Given the description of an element on the screen output the (x, y) to click on. 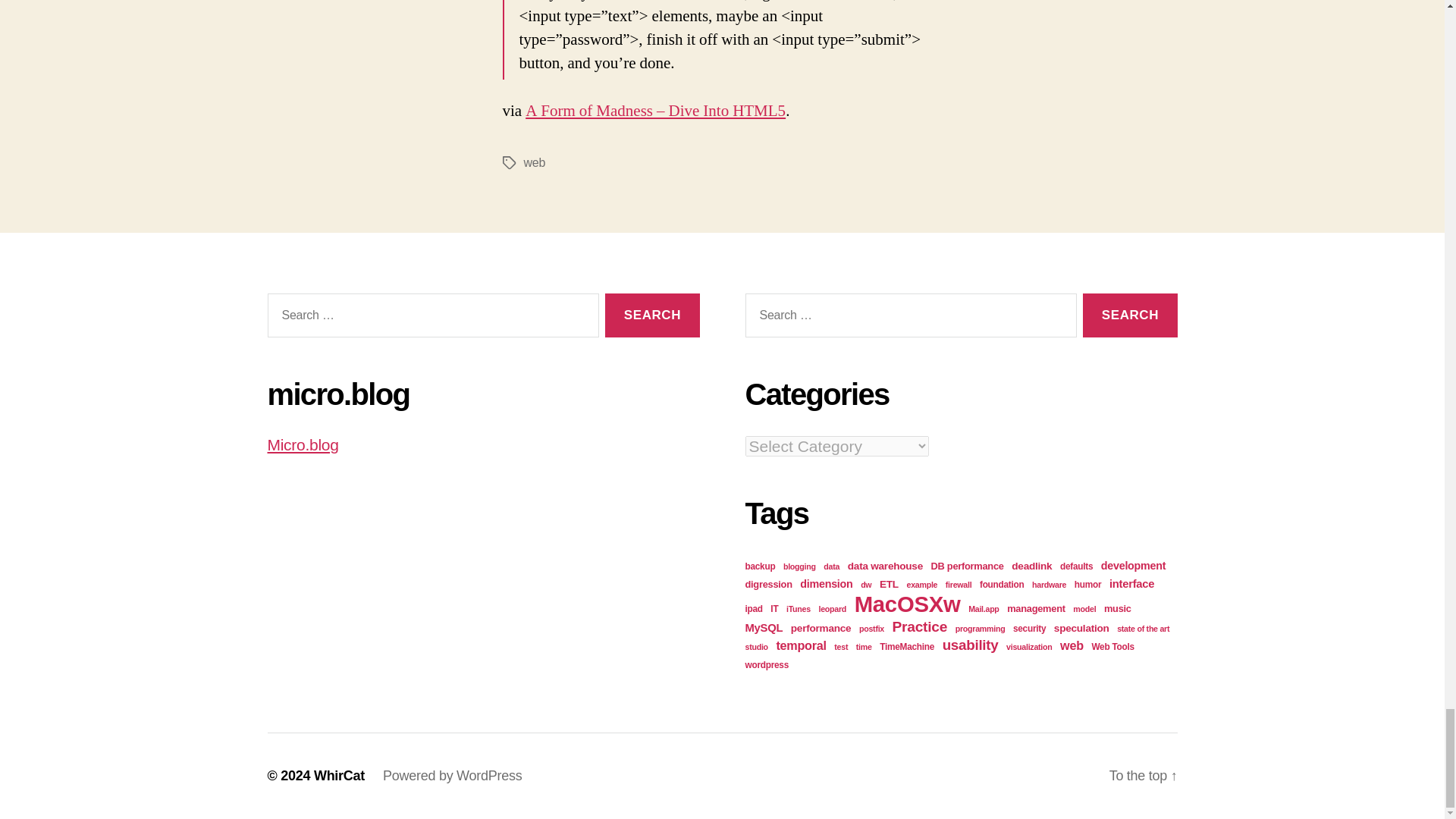
Search (1129, 315)
Search (651, 315)
Search (651, 315)
Search (1129, 315)
